Given the description of an element on the screen output the (x, y) to click on. 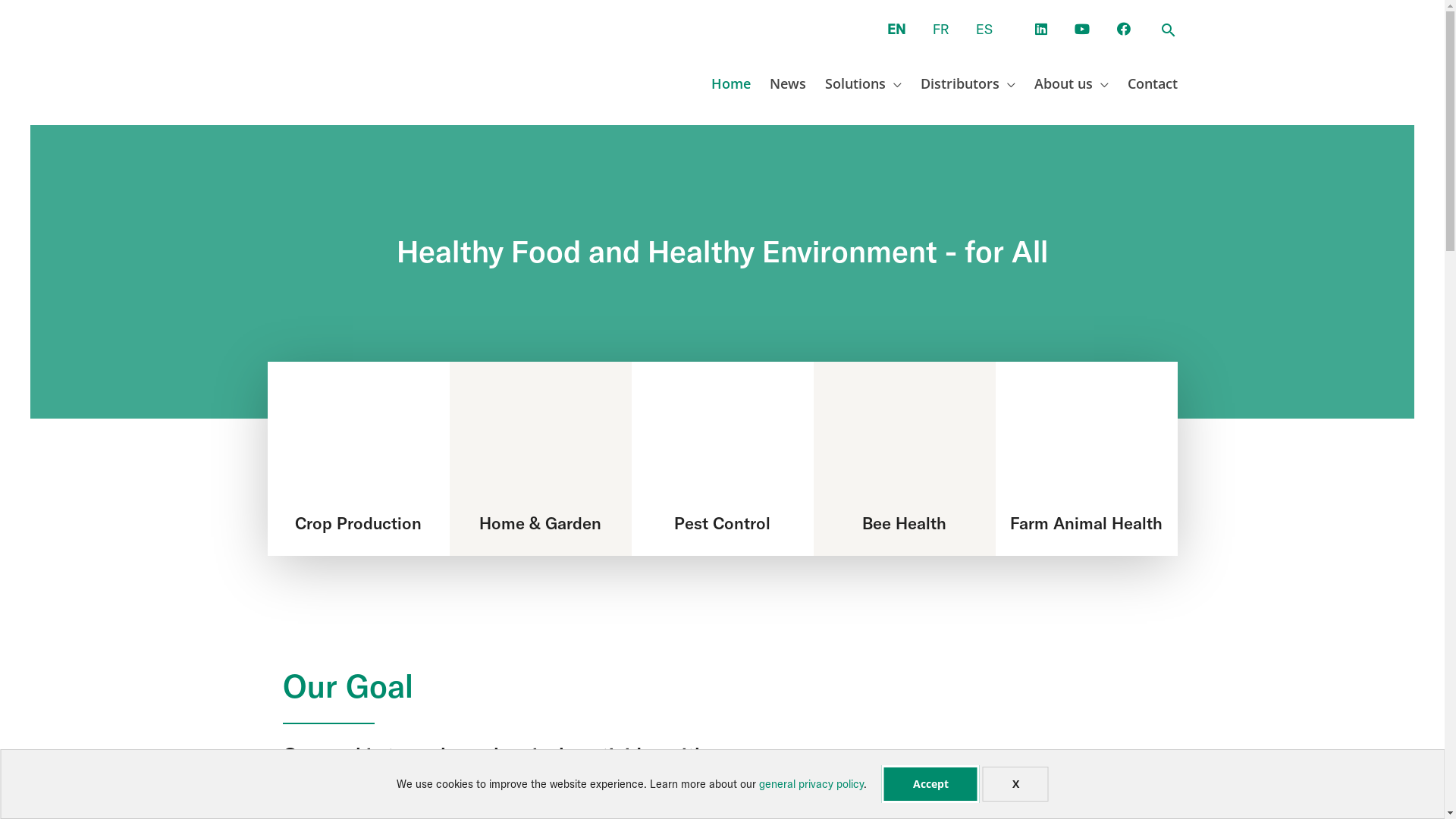
News Element type: text (778, 82)
Contact Element type: text (1142, 82)
Home Element type: text (720, 82)
streamline-icon-chicken-eating@960x960 Element type: hover (1086, 445)
Solutions Element type: text (852, 82)
About us Element type: text (1060, 82)
EN Element type: text (896, 28)
X Element type: text (1015, 783)
Accept Element type: text (930, 784)
bee-health Element type: hover (904, 445)
streamlinehq-insect-colony-pets-animals-18 Element type: hover (722, 445)
Skip to content Element type: text (29, 3)
streamline-icon-carterpillar@960x960 Element type: hover (358, 445)
general privacy policy Element type: text (810, 783)
ES Element type: text (983, 28)
Distributors Element type: text (957, 82)
streamline-icon-house-ecosystem@700x700 Element type: hover (540, 445)
FR Element type: text (940, 28)
